Given the description of an element on the screen output the (x, y) to click on. 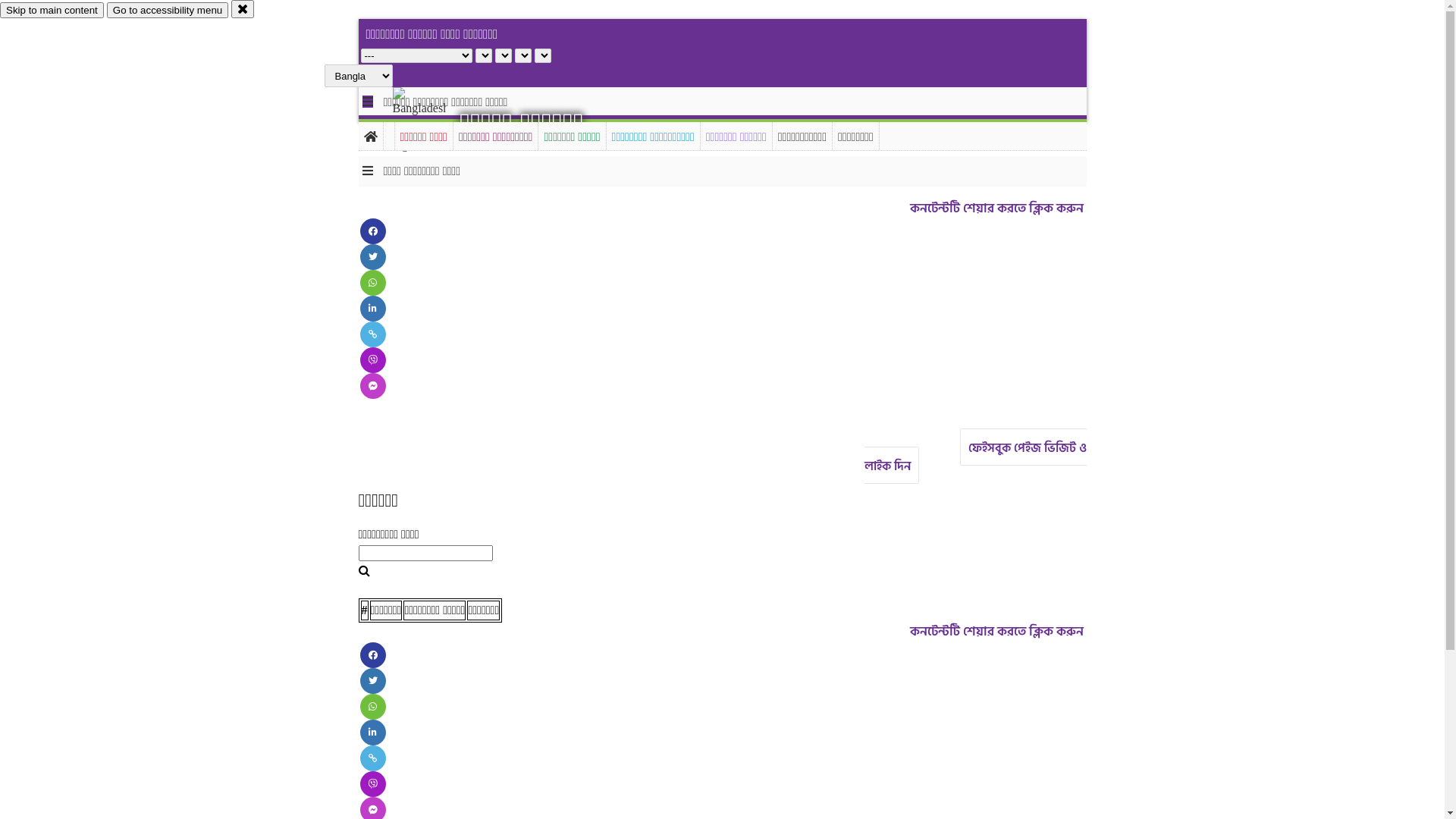
close Element type: hover (242, 9)
Go to accessibility menu Element type: text (167, 10)

                
             Element type: hover (431, 120)
Skip to main content Element type: text (51, 10)
